Given the description of an element on the screen output the (x, y) to click on. 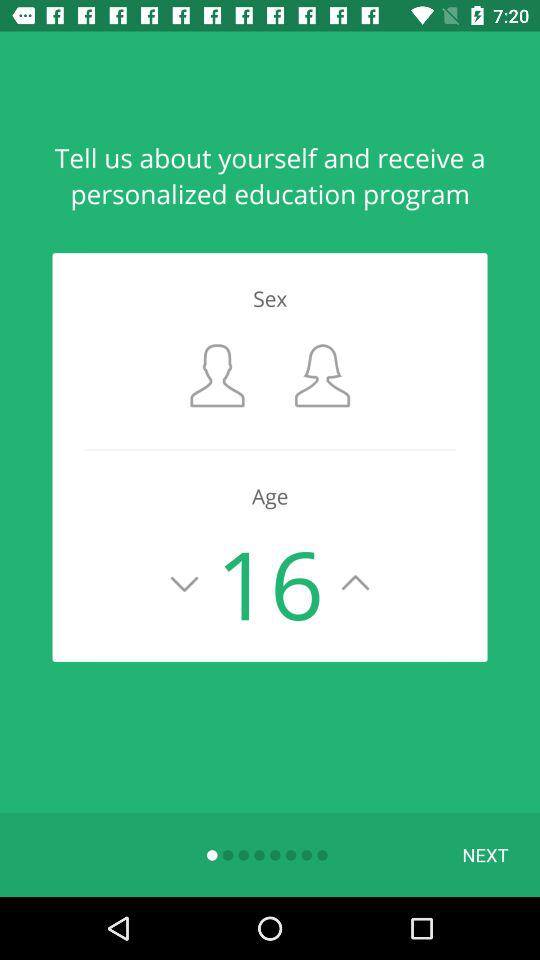
female sex avatar profile toggle (322, 375)
